Given the description of an element on the screen output the (x, y) to click on. 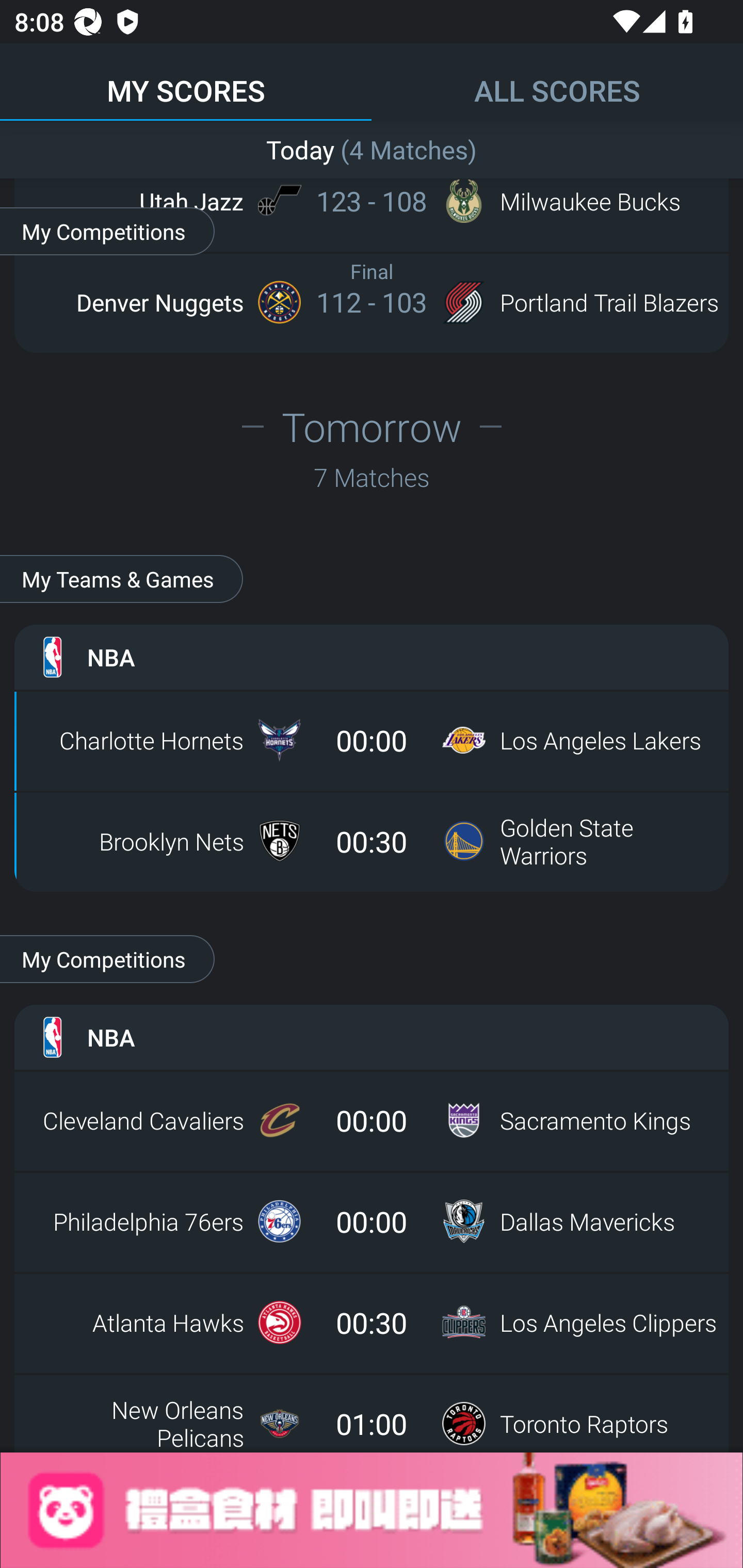
MY SCORES (185, 81)
ALL SCORES (557, 81)
Utah Jazz Final 123 - 108 Milwaukee Bucks (371, 201)
NBA (371, 656)
Charlotte Hornets 00:00 Los Angeles Lakers (371, 739)
Brooklyn Nets 00:30 Golden State Warriors (371, 841)
NBA (371, 1037)
Cleveland Cavaliers 00:00 Sacramento Kings (371, 1120)
Philadelphia 76ers 00:00 Dallas Mavericks (371, 1221)
Atlanta Hawks 00:30 Los Angeles Clippers (371, 1322)
New Orleans Pelicans 01:00 Toronto Raptors (371, 1417)
Advertisement (371, 1509)
